Given the description of an element on the screen output the (x, y) to click on. 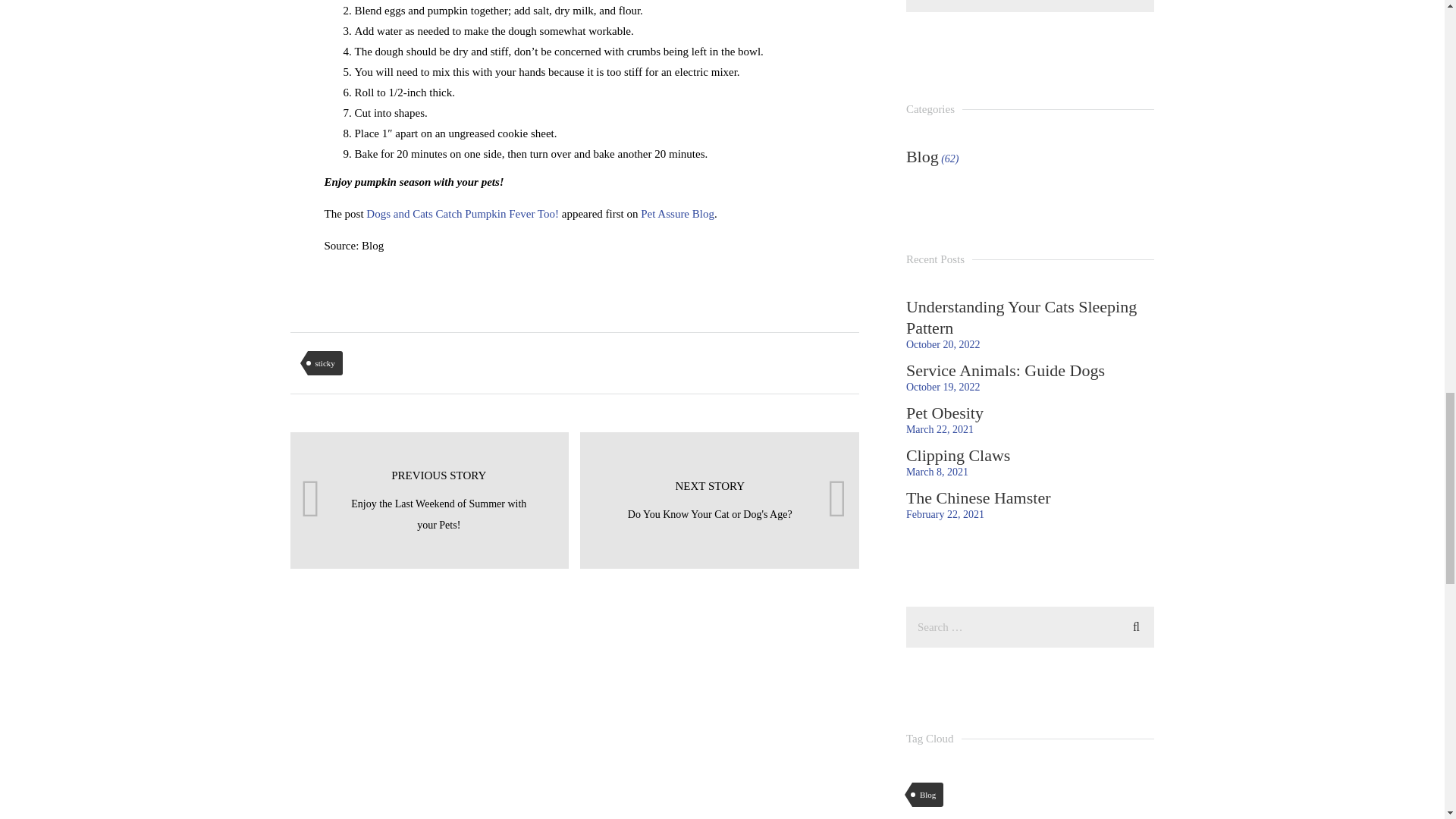
Pet Assure Blog (677, 214)
sticky (324, 363)
Search (1136, 624)
Search (1136, 624)
Dogs and Cats Catch Pumpkin Fever Too! (719, 500)
